Given the description of an element on the screen output the (x, y) to click on. 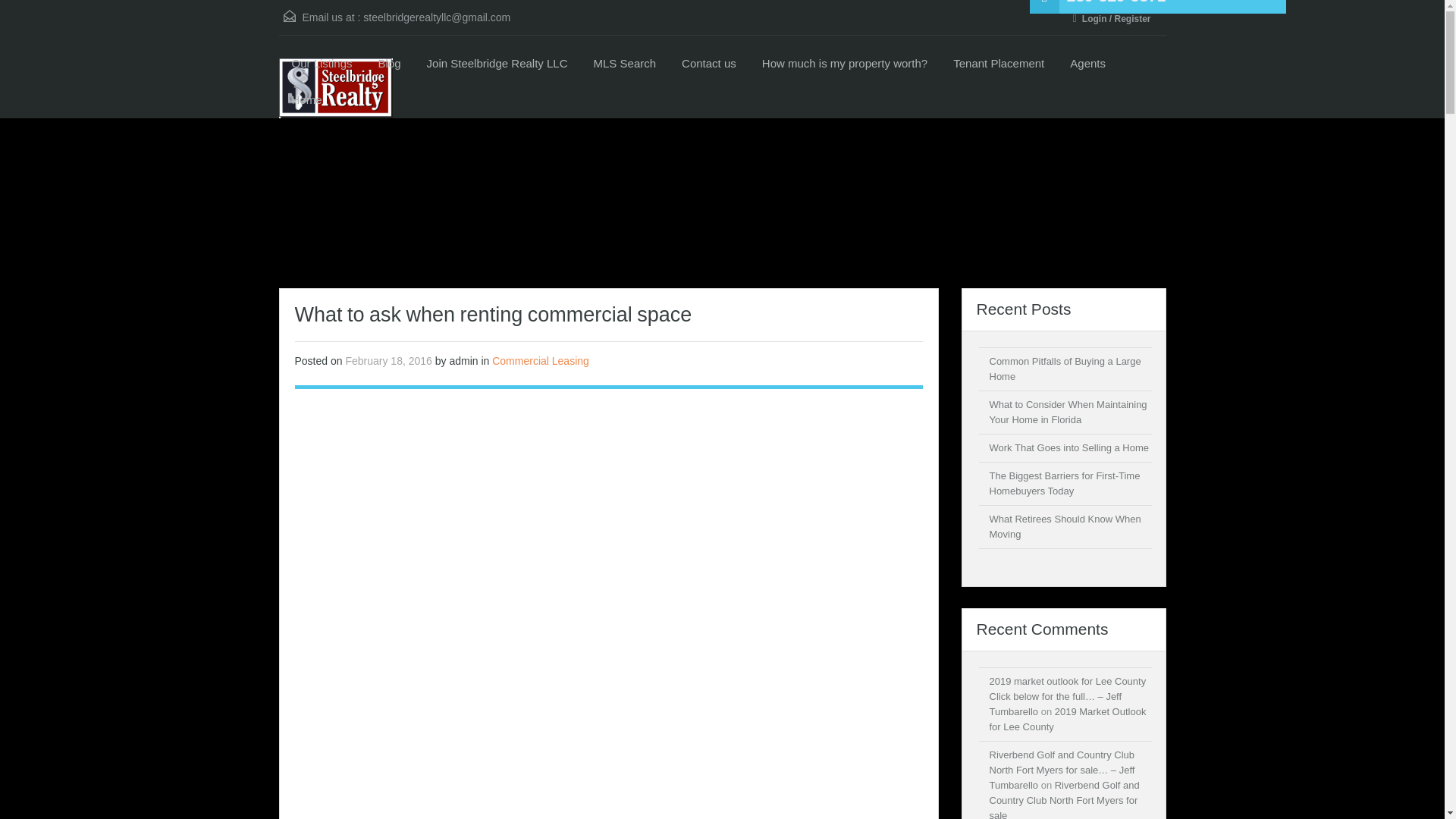
Steelbridge Realty LLC (336, 87)
MLS Search (624, 63)
How much is my property worth? (844, 63)
Join Steelbridge Realty LLC (496, 63)
Common Pitfalls of Buying a Large Home (1064, 368)
Contact us (708, 63)
Riverbend Golf and Country Club North Fort Myers for sale (1063, 799)
What to Consider When Maintaining Your Home in Florida (1067, 411)
Work That Goes into Selling a Home (1068, 447)
Agents (1087, 63)
The Biggest Barriers for First-Time Homebuyers Today (1064, 483)
What Retirees Should Know When Moving (1064, 526)
What to ask when renting commercial space (607, 701)
Tenant Placement (998, 63)
Our Listings (322, 63)
